Given the description of an element on the screen output the (x, y) to click on. 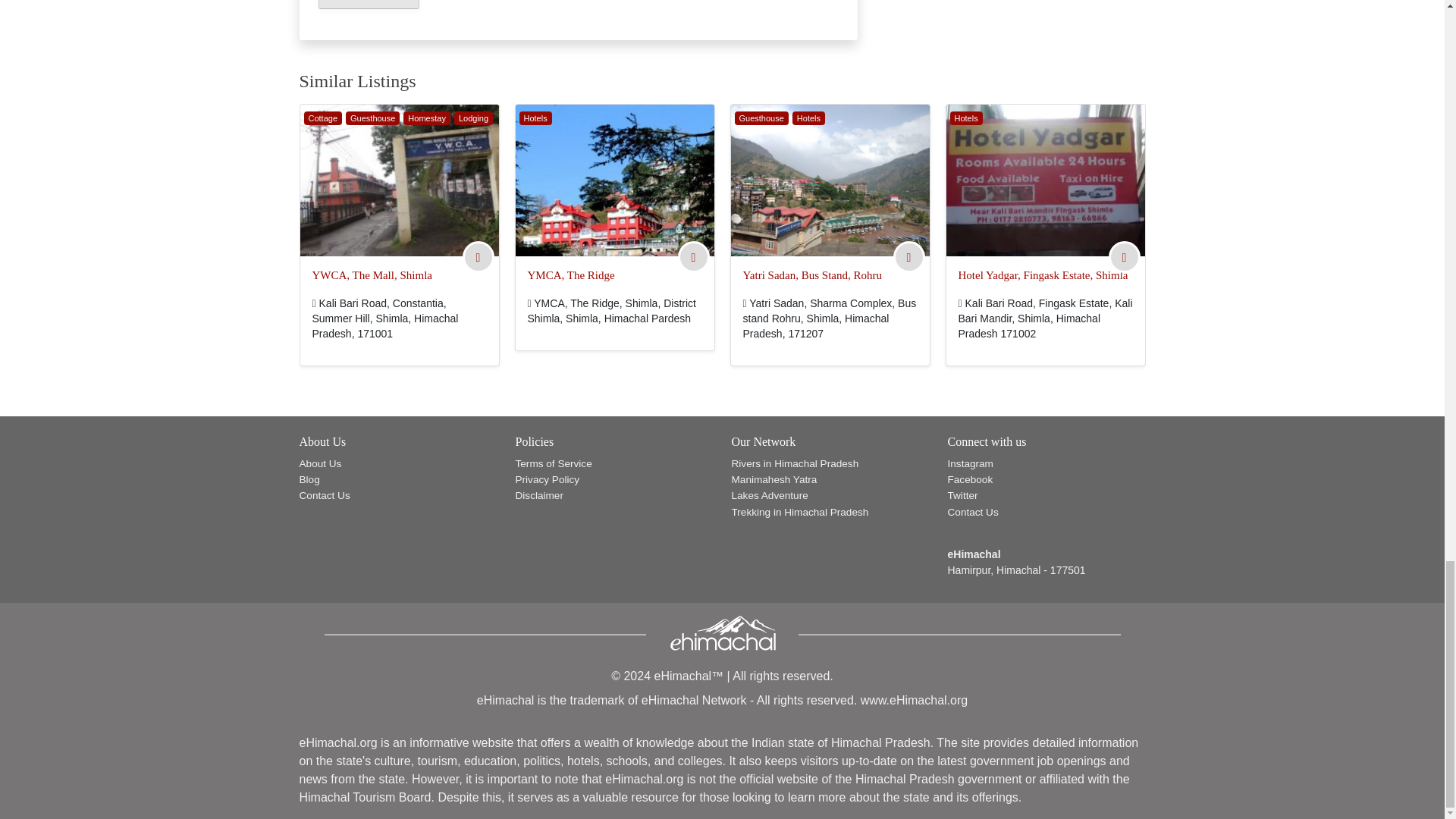
Login (478, 257)
Login (908, 257)
Login (692, 257)
Login (1123, 257)
Post Comment (368, 4)
